Given the description of an element on the screen output the (x, y) to click on. 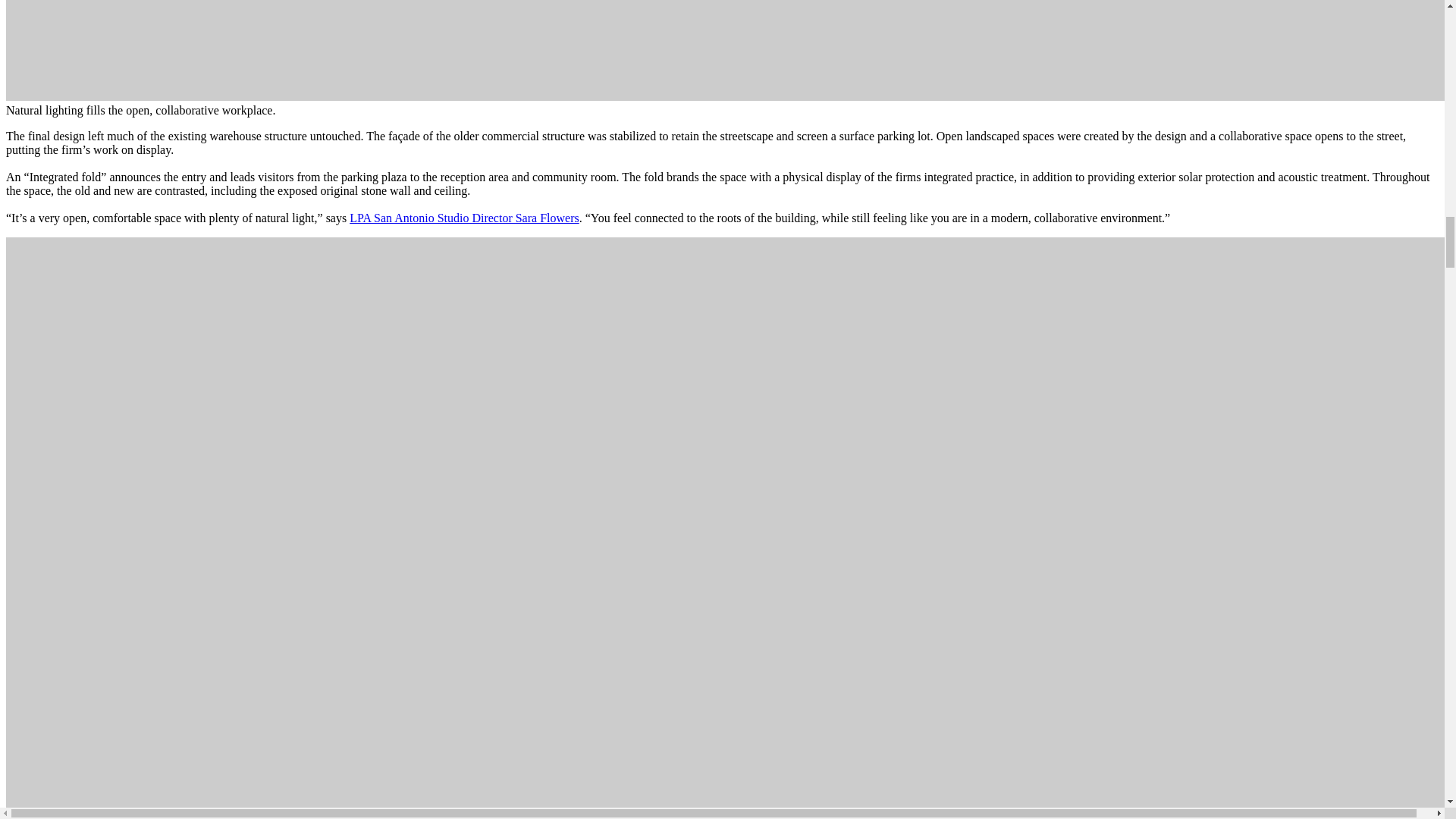
LPA San Antonio Studio Director Sara Flowers (464, 217)
